Given the description of an element on the screen output the (x, y) to click on. 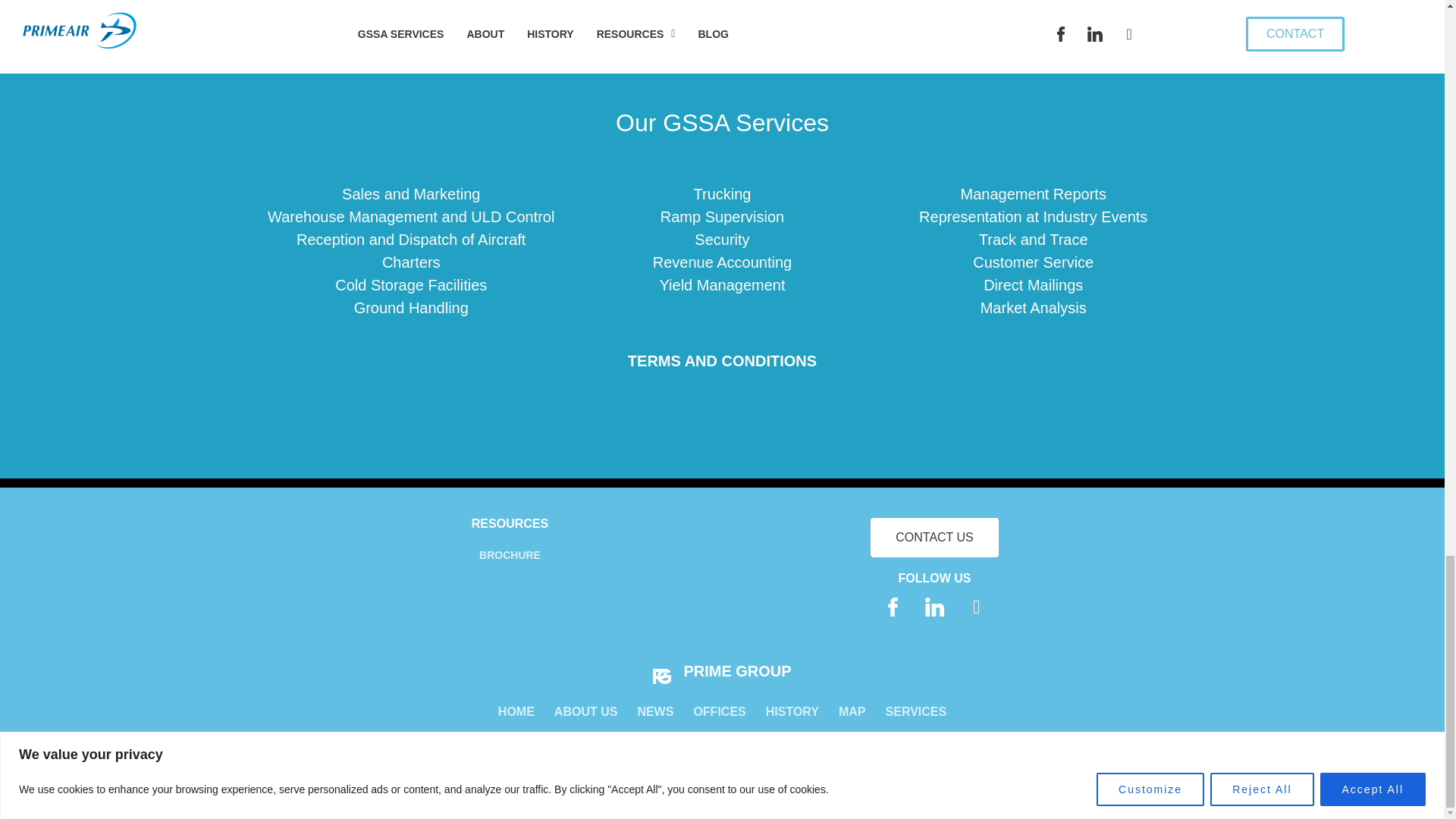
CONTACT US (934, 537)
TERMS AND CONDITIONS (721, 360)
PrimeGroup-White (661, 676)
BROCHURE (509, 555)
